Given the description of an element on the screen output the (x, y) to click on. 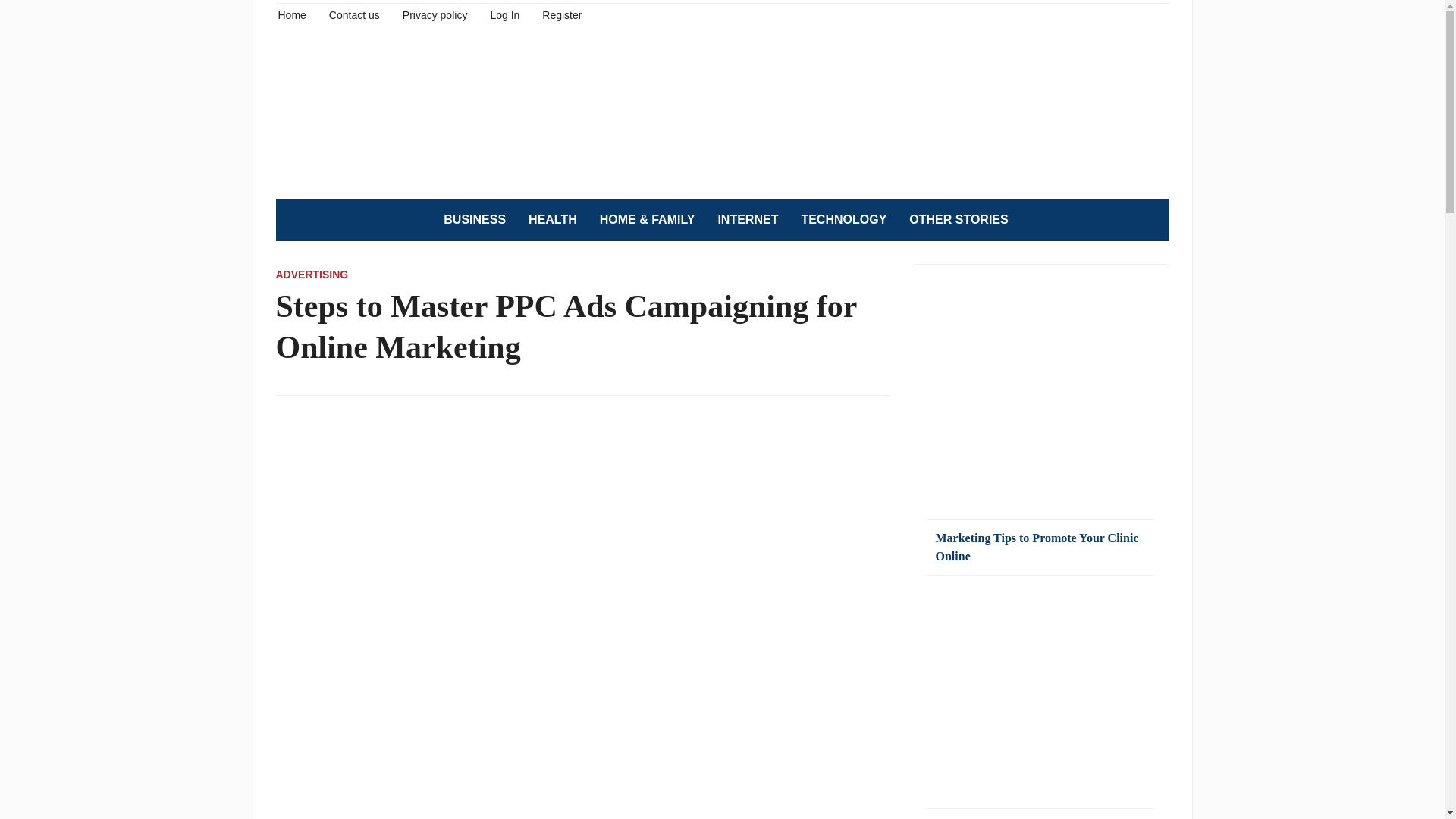
Home (291, 14)
Privacy policy (435, 14)
Log In (504, 14)
Contact us (354, 14)
Register (560, 14)
Search (1149, 219)
